Given the description of an element on the screen output the (x, y) to click on. 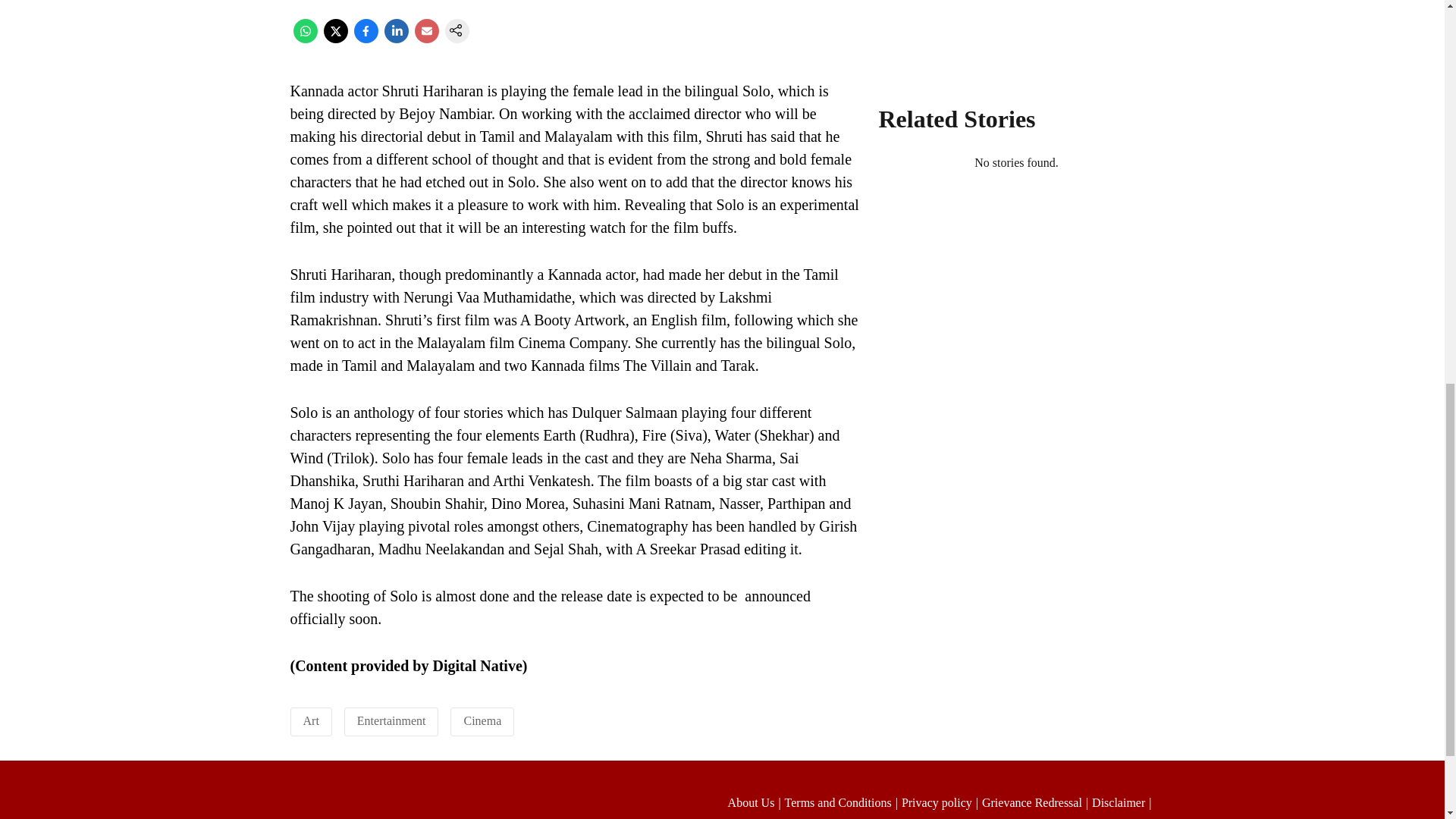
Contact us (1126, 816)
Disclaimer (1123, 802)
Privacy policy (941, 802)
Grievance Redressal (1036, 802)
Cinema (481, 720)
Entertainment (391, 720)
About Us (756, 802)
Art (310, 720)
Terms and Conditions (842, 802)
